Given the description of an element on the screen output the (x, y) to click on. 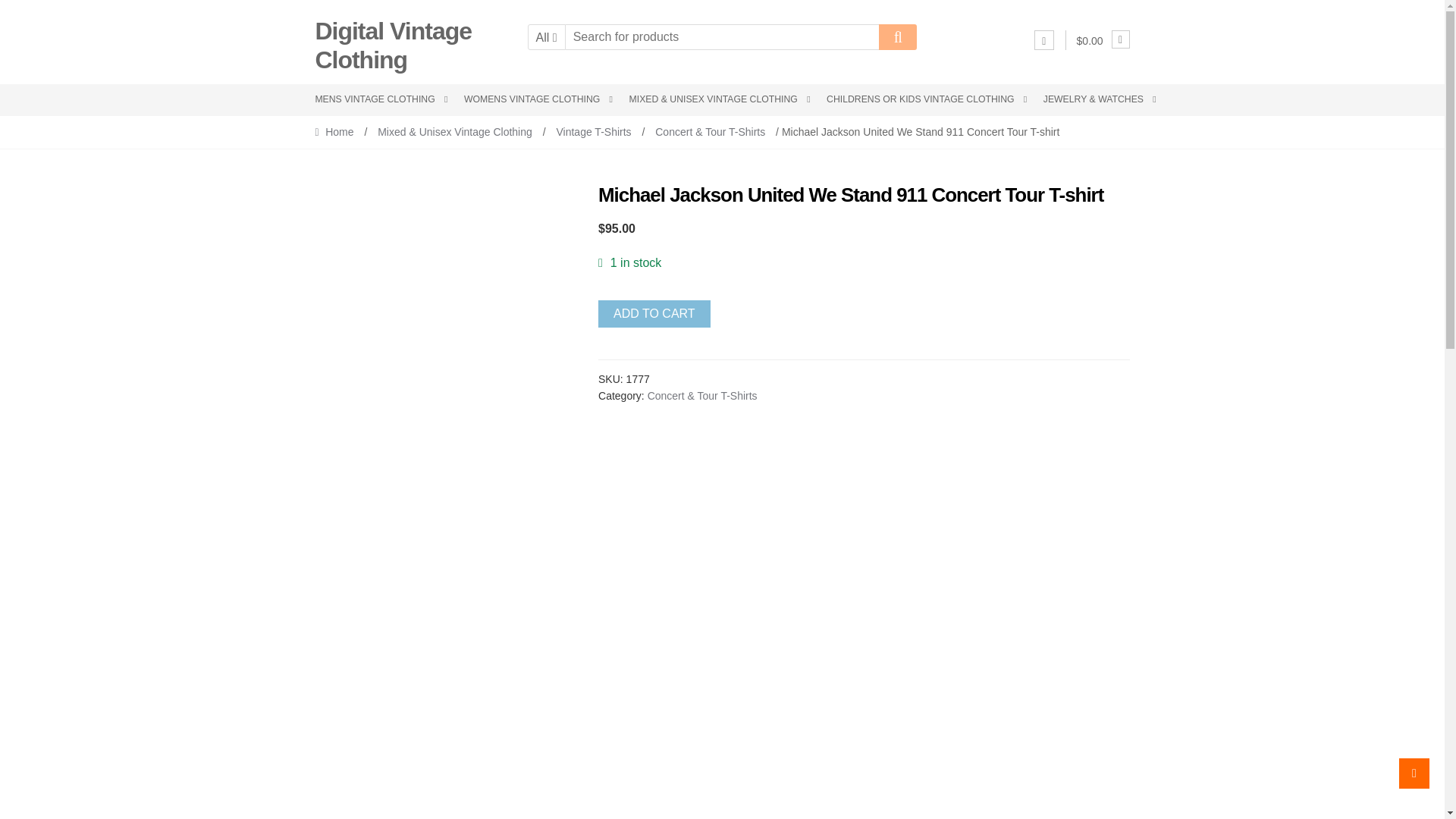
MENS VINTAGE CLOTHING (384, 99)
Digital Vintage Clothing (392, 45)
View your shopping cart (1103, 41)
WOMENS VINTAGE CLOTHING (538, 99)
